Given the description of an element on the screen output the (x, y) to click on. 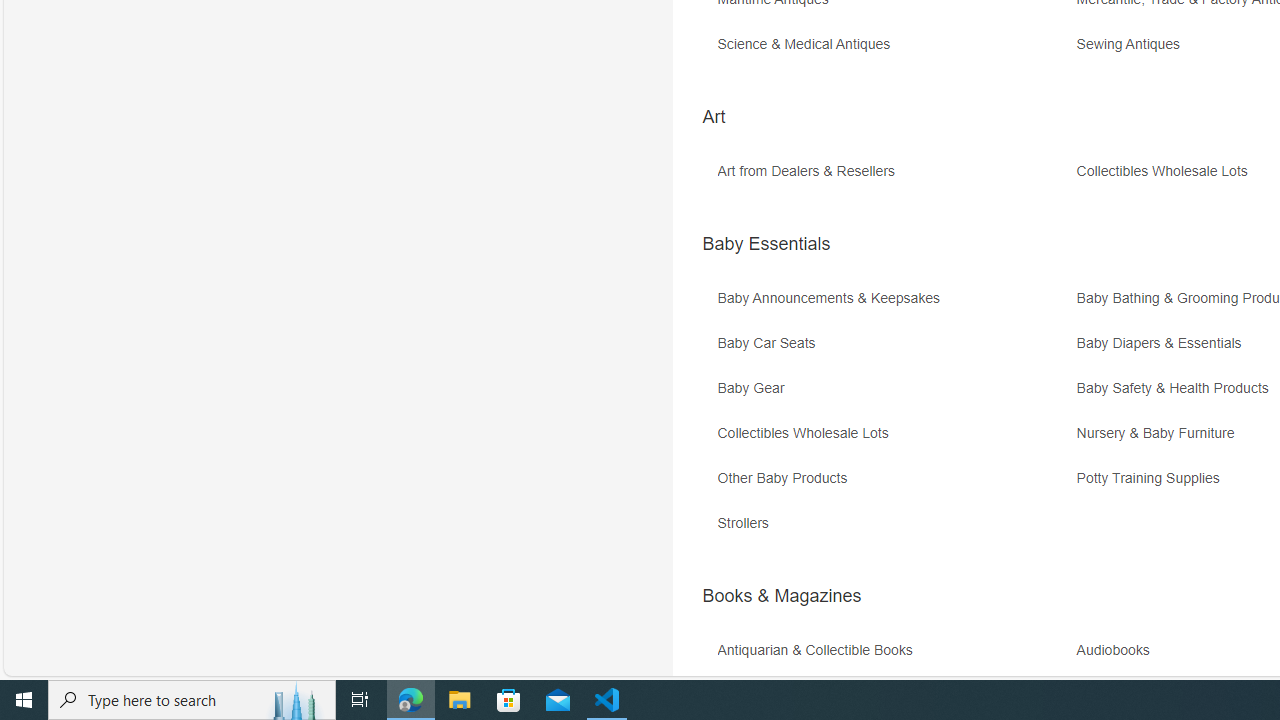
Baby Essentials (765, 244)
Antiquarian & Collectible Books (894, 657)
Collectibles Wholesale Lots (894, 440)
Strollers (894, 529)
Collectibles Wholesale Lots (807, 433)
Strollers (747, 523)
Baby Car Seats (770, 343)
Other Baby Products (786, 478)
Other Baby Products (894, 485)
Baby Announcements & Keepsakes (894, 305)
Baby Diapers & Essentials (1163, 343)
Art from Dealers & Resellers (810, 171)
